Given the description of an element on the screen output the (x, y) to click on. 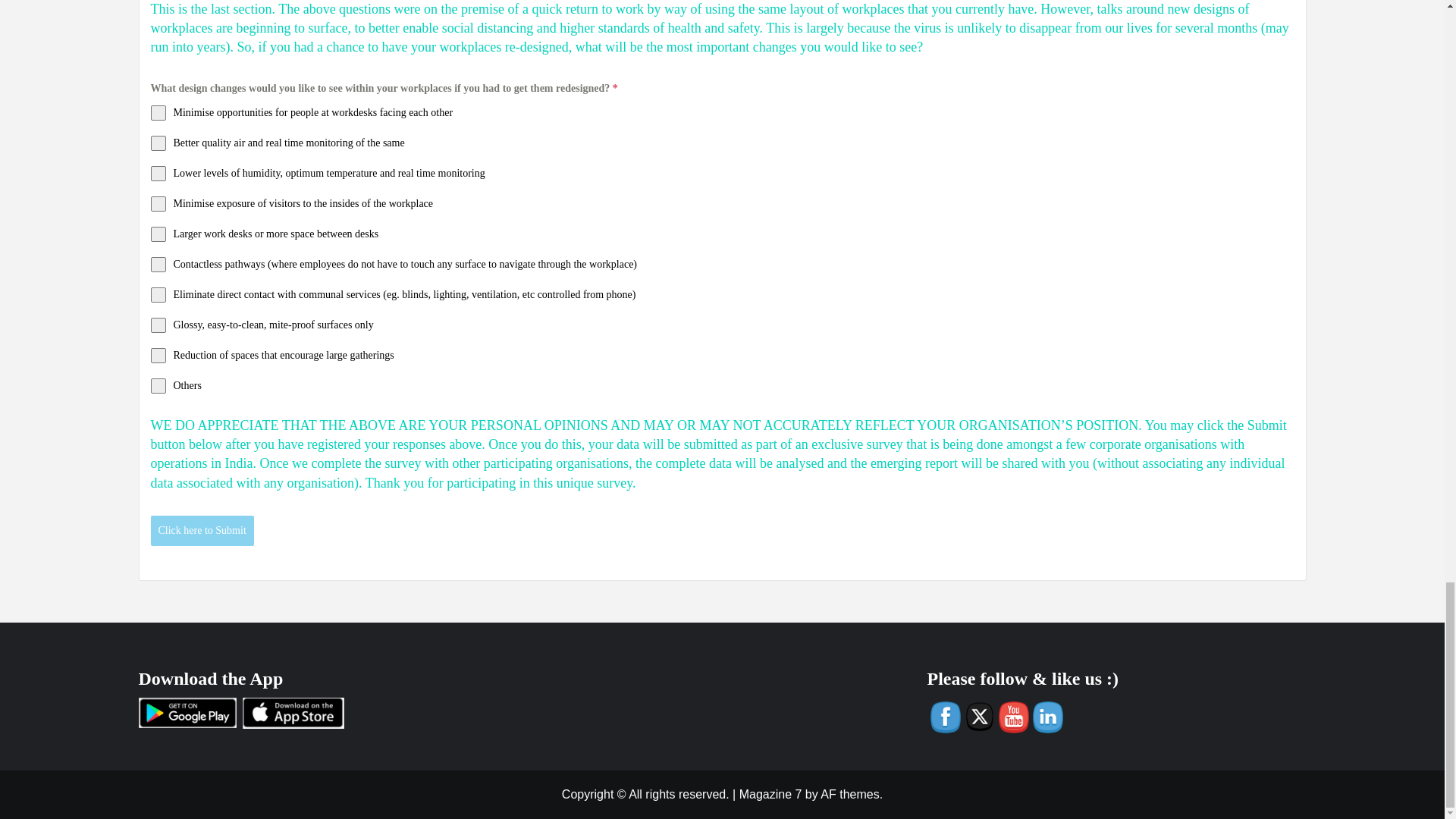
Click here to Submit (201, 530)
Magazine 7 (770, 793)
